Given the description of an element on the screen output the (x, y) to click on. 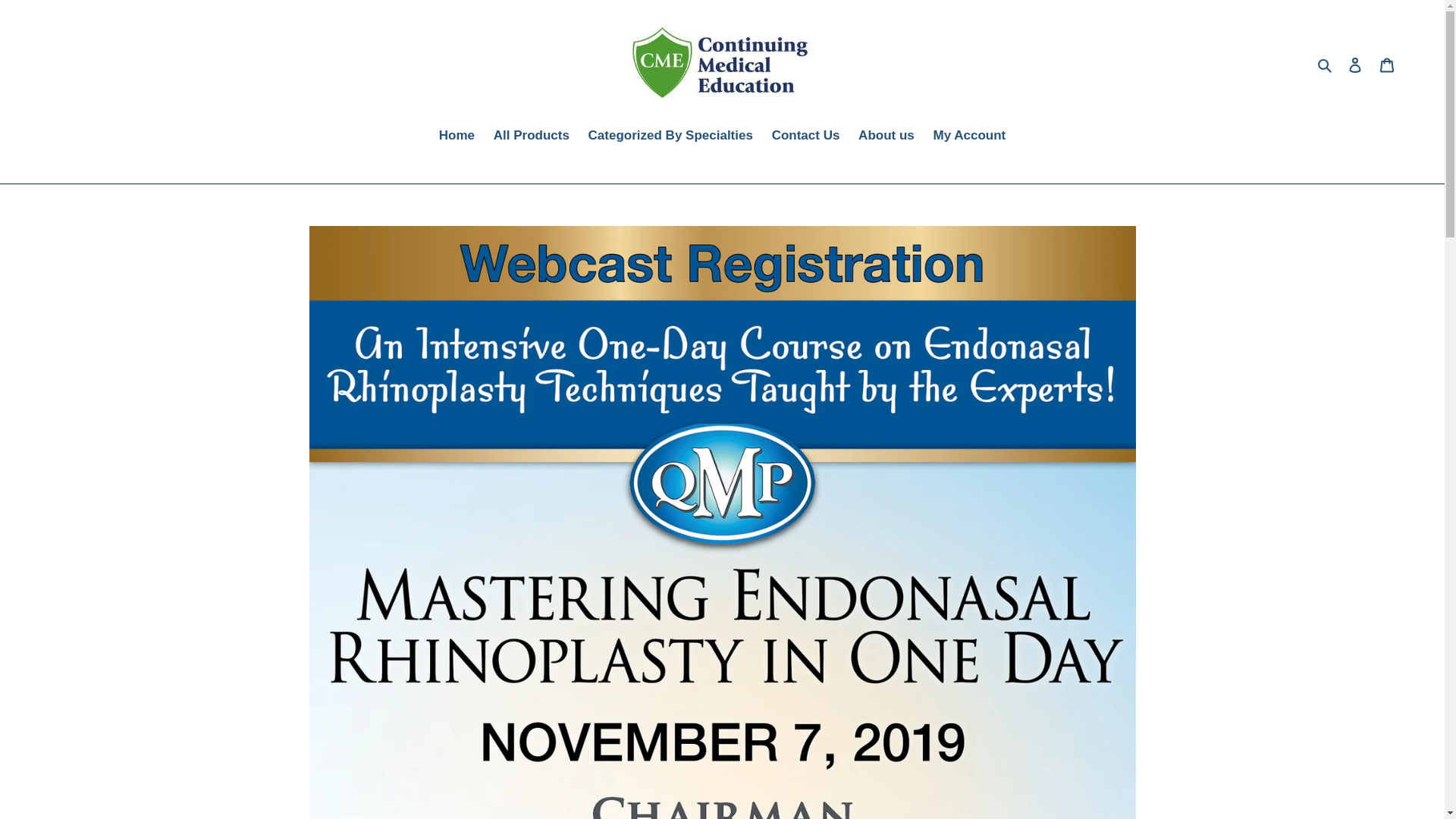
Log in (1355, 64)
Home (455, 137)
Search (1326, 65)
Categorized By Specialties (670, 137)
My Account (968, 137)
All Products (531, 137)
Contact Us (805, 137)
About us (885, 137)
Cart (1387, 64)
